Given the description of an element on the screen output the (x, y) to click on. 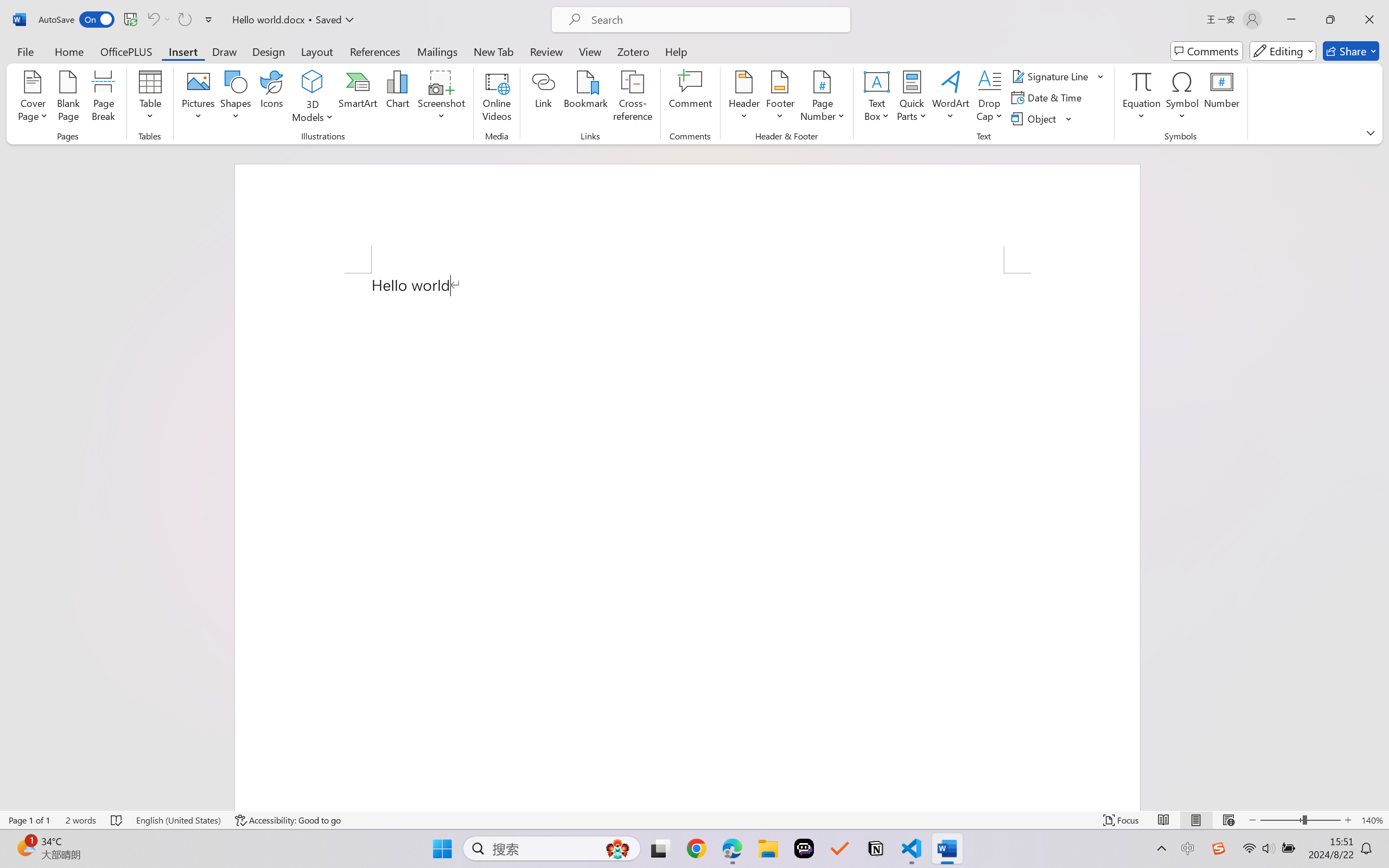
Header (743, 97)
Number... (1221, 97)
Object... (1035, 118)
Zoom Out (1280, 819)
Share (1350, 51)
Class: NetUIScrollBar (1382, 477)
Object... (1042, 118)
Can't Undo (158, 19)
New Tab (493, 51)
Comment (689, 97)
Print Layout (1196, 819)
Class: Image (1218, 847)
File Tab (24, 51)
